Given the description of an element on the screen output the (x, y) to click on. 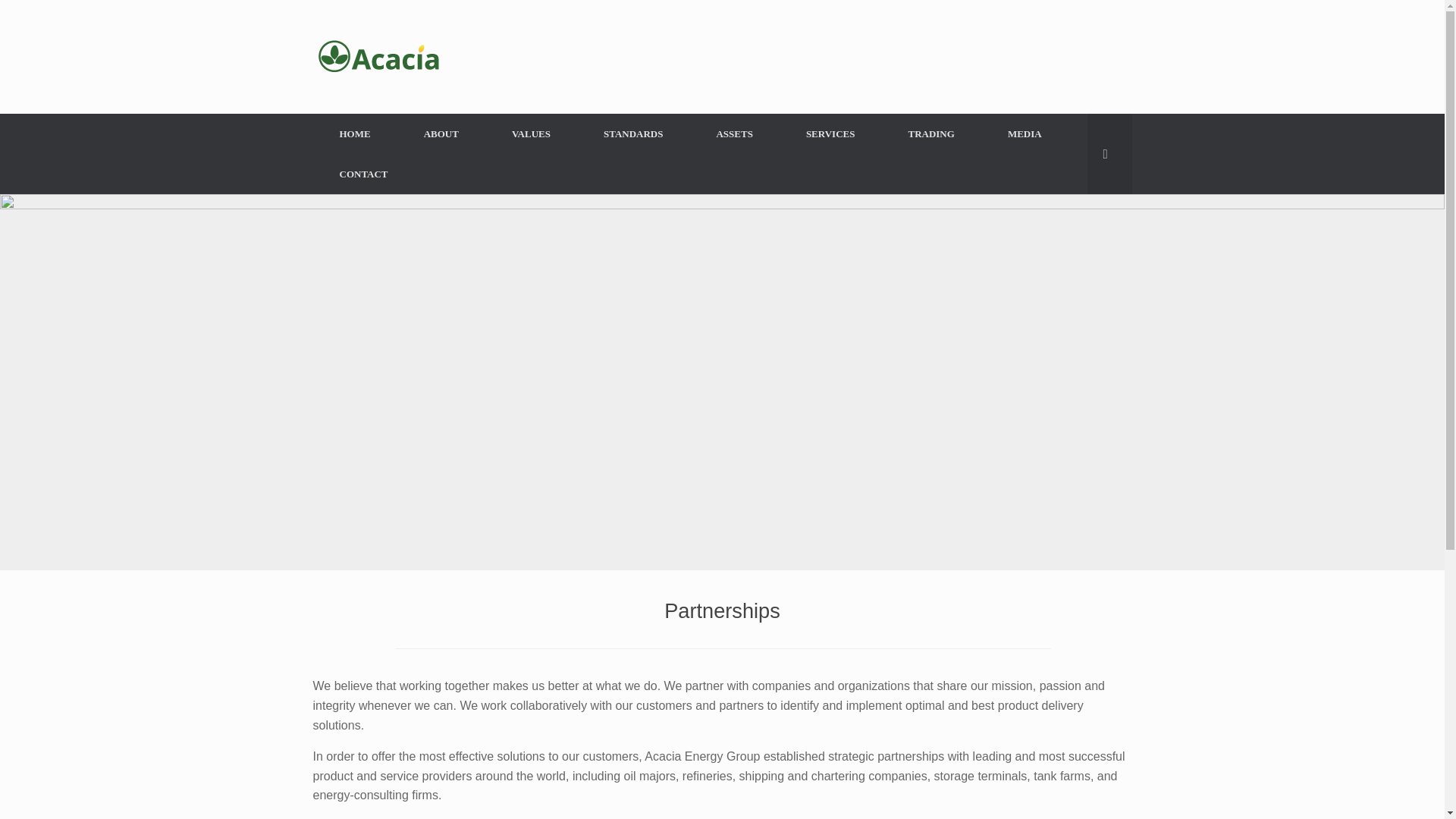
HOME (354, 133)
VALUES (530, 133)
Acacia Energy Group (379, 56)
TRADING (929, 133)
ASSETS (733, 133)
MEDIA (1024, 133)
SERVICES (830, 133)
STANDARDS (633, 133)
ABOUT (440, 133)
CONTACT (363, 173)
